Given the description of an element on the screen output the (x, y) to click on. 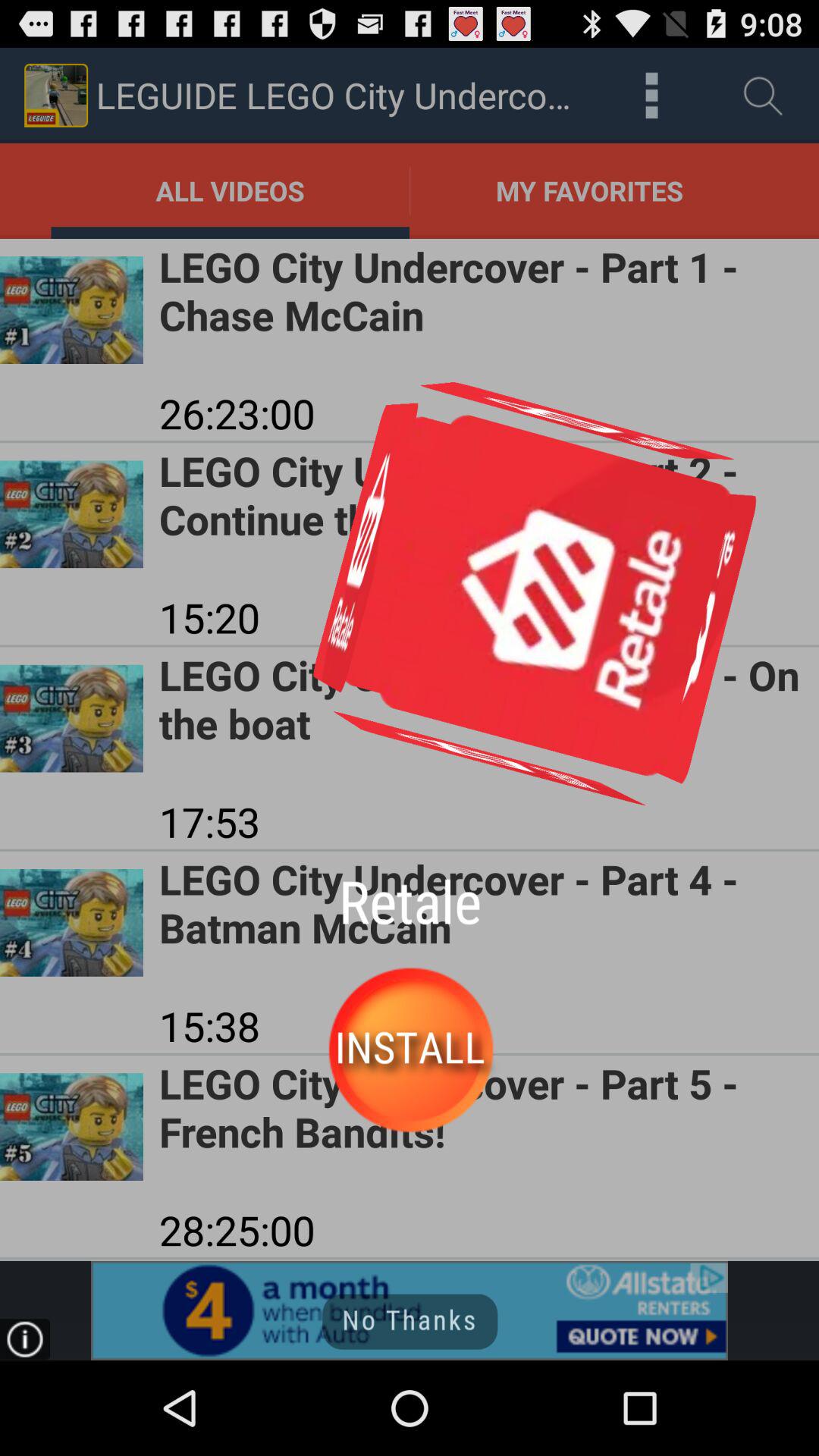
go to advertisement page (409, 1310)
